Given the description of an element on the screen output the (x, y) to click on. 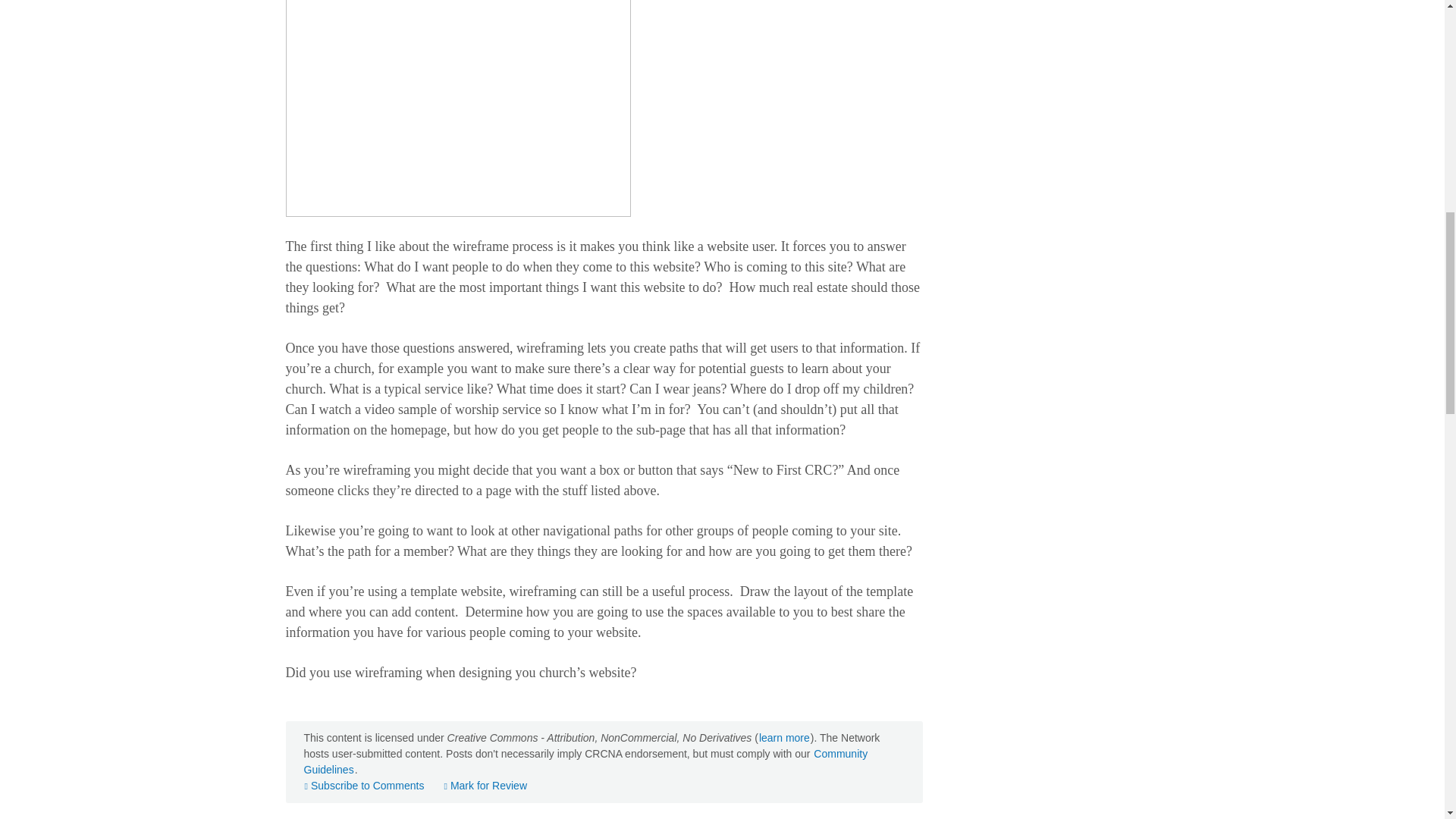
Community Guidelines (584, 761)
Mark for Review (484, 785)
learn more (784, 737)
Subscribe to Comments (363, 785)
